Given the description of an element on the screen output the (x, y) to click on. 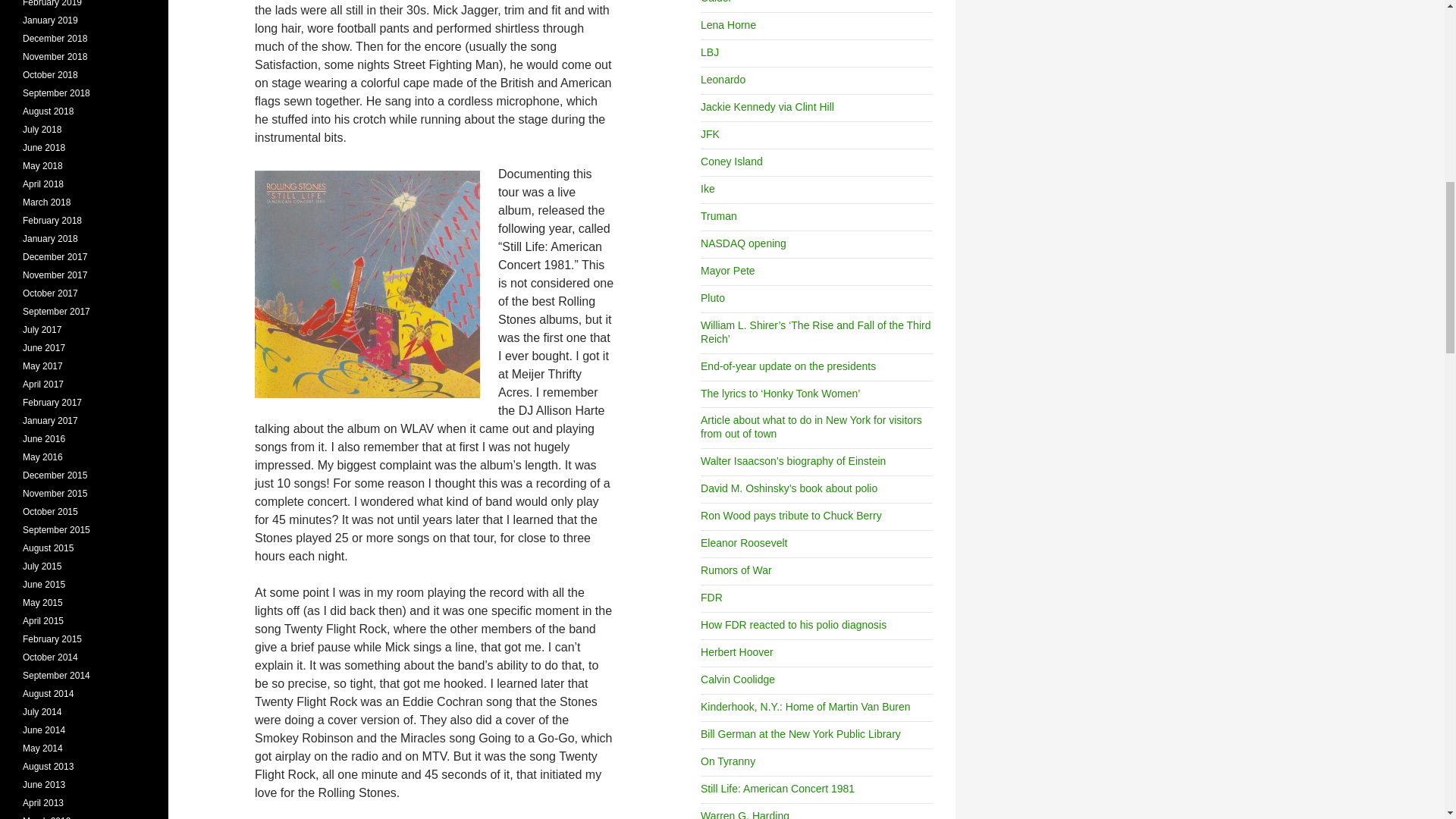
Calder (716, 2)
Jackie Kennedy via Clint Hill (767, 106)
LBJ (709, 51)
Lena Horne (727, 24)
Leonardo (722, 79)
JFK (709, 133)
